Given the description of an element on the screen output the (x, y) to click on. 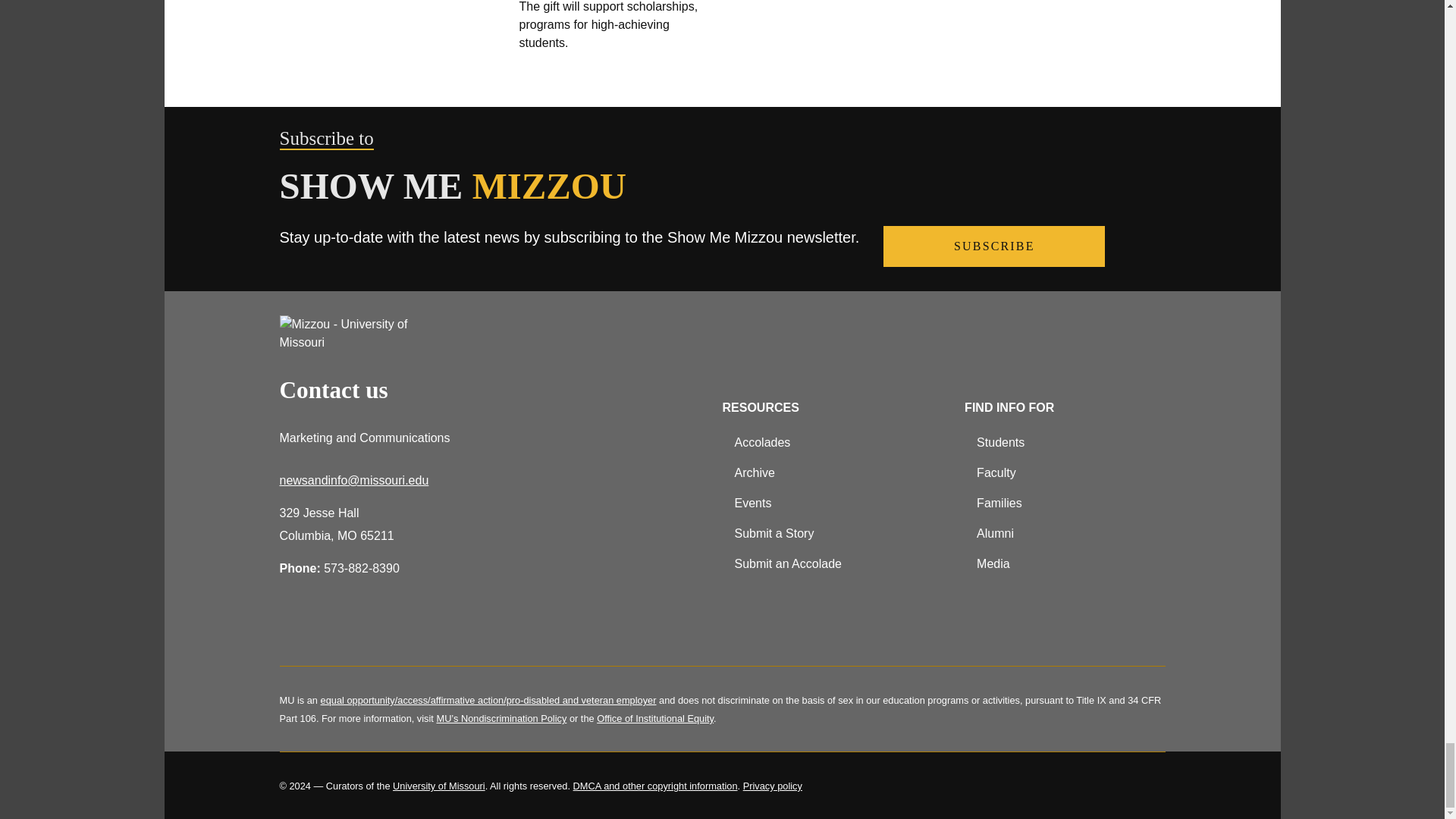
Linkedin (411, 627)
Instagram (371, 627)
Twitter (332, 627)
Facebook (292, 627)
